Given the description of an element on the screen output the (x, y) to click on. 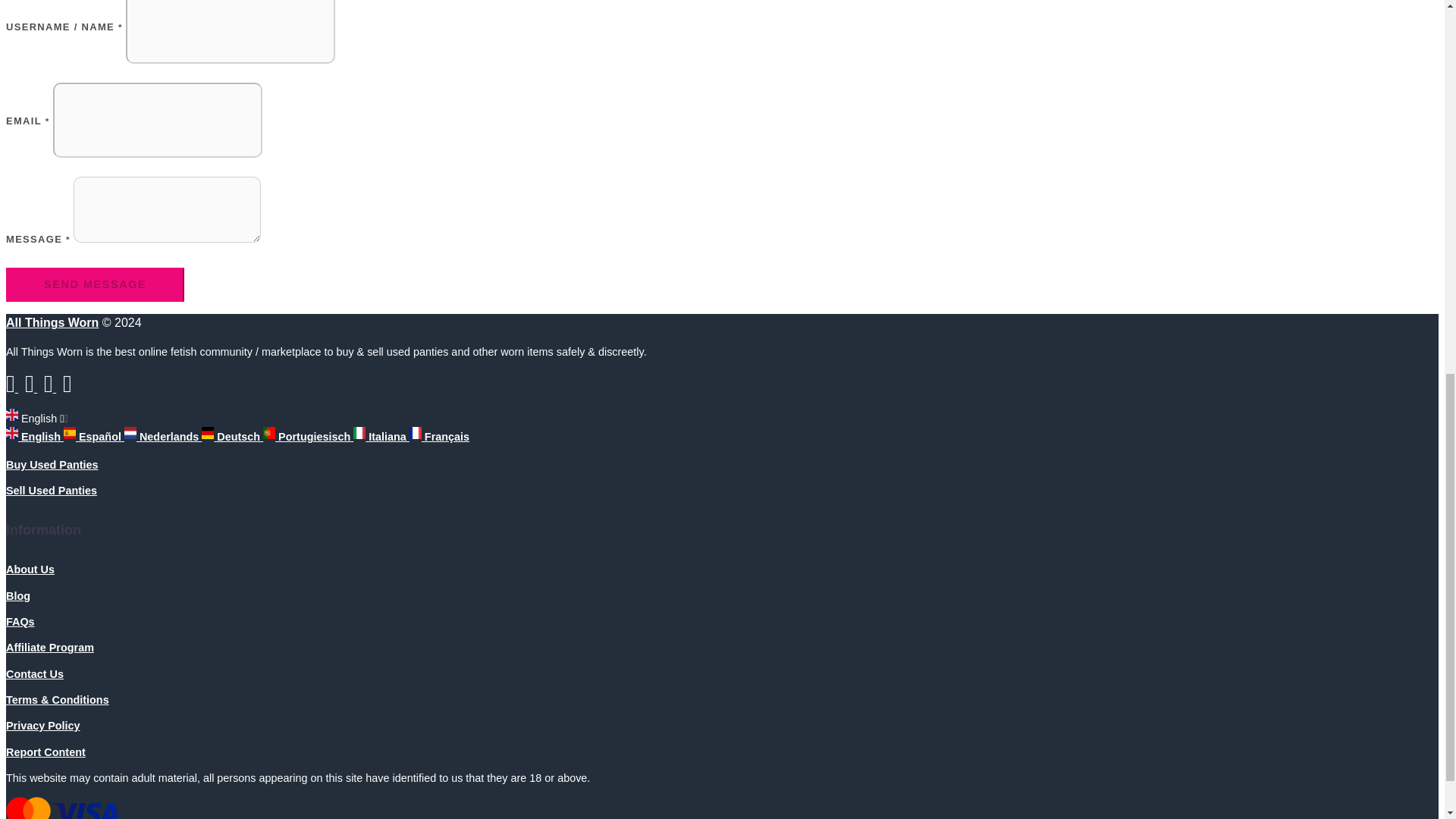
SEND MESSAGE (94, 284)
All Things Worn (52, 322)
